Given the description of an element on the screen output the (x, y) to click on. 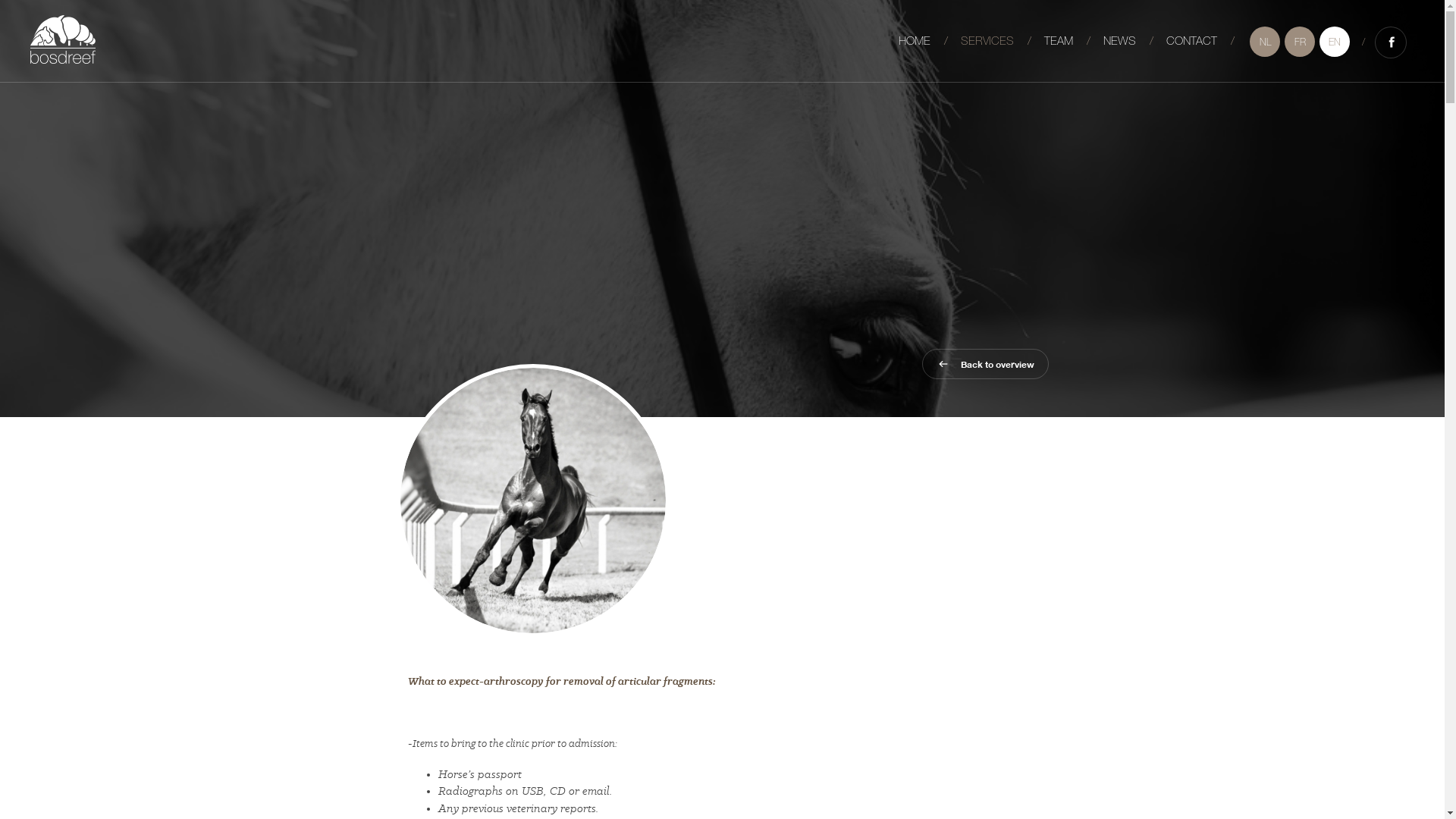
EN Element type: text (1334, 41)
NEWS Element type: text (1119, 41)
NL Element type: text (1264, 41)
SERVICES Element type: text (987, 41)
FR Element type: text (1299, 41)
Back to overview Element type: text (985, 363)
facebook Element type: hover (1390, 42)
CONTACT Element type: text (1191, 41)
HOME Element type: text (914, 41)
TEAM Element type: text (1058, 41)
Logo Bosdreef Element type: hover (62, 39)
